Given the description of an element on the screen output the (x, y) to click on. 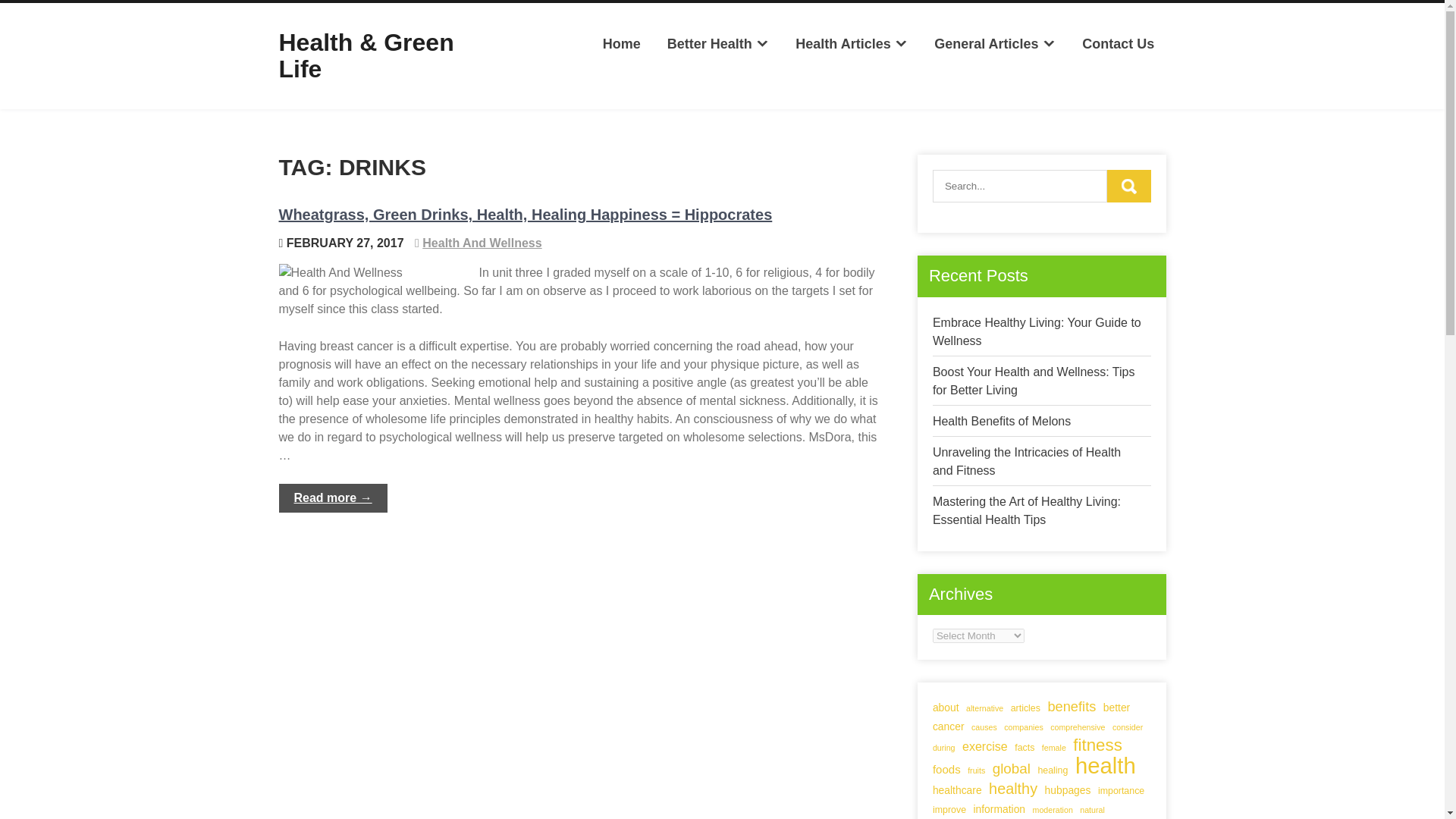
General Articles (995, 44)
cancer (948, 726)
better (1116, 707)
Search (1128, 185)
Mastering the Art of Healthy Living: Essential Health Tips (1027, 510)
Health Benefits of Melons (1001, 420)
Health Articles (851, 44)
alternative (984, 708)
Search (1128, 185)
benefits (1071, 706)
about (946, 707)
companies (1023, 727)
Boost Your Health and Wellness: Tips for Better Living (1034, 380)
Search (1128, 185)
Embrace Healthy Living: Your Guide to Wellness (1037, 331)
